Given the description of an element on the screen output the (x, y) to click on. 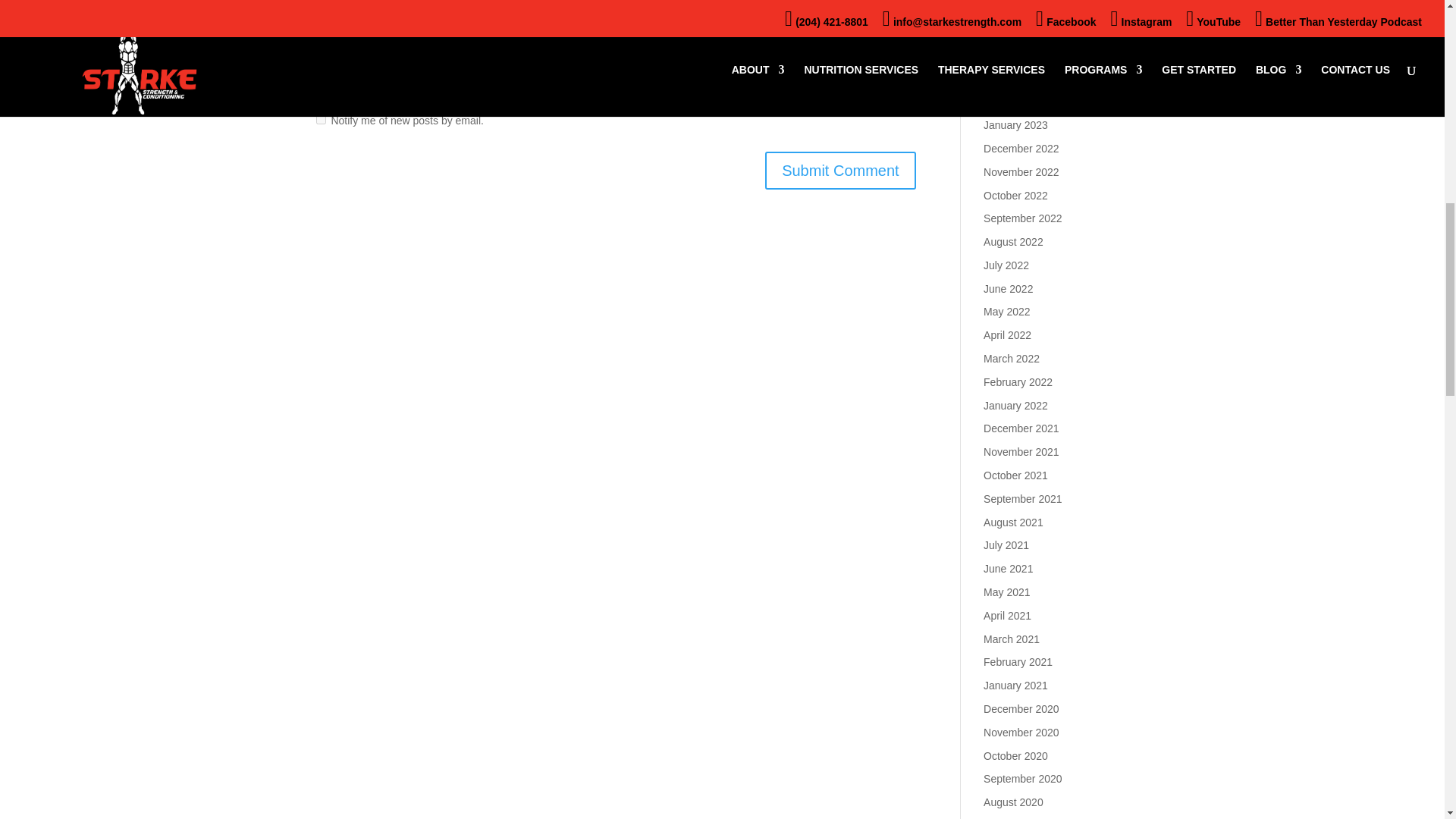
subscribe (319, 119)
Submit Comment (840, 170)
subscribe (319, 80)
